Given the description of an element on the screen output the (x, y) to click on. 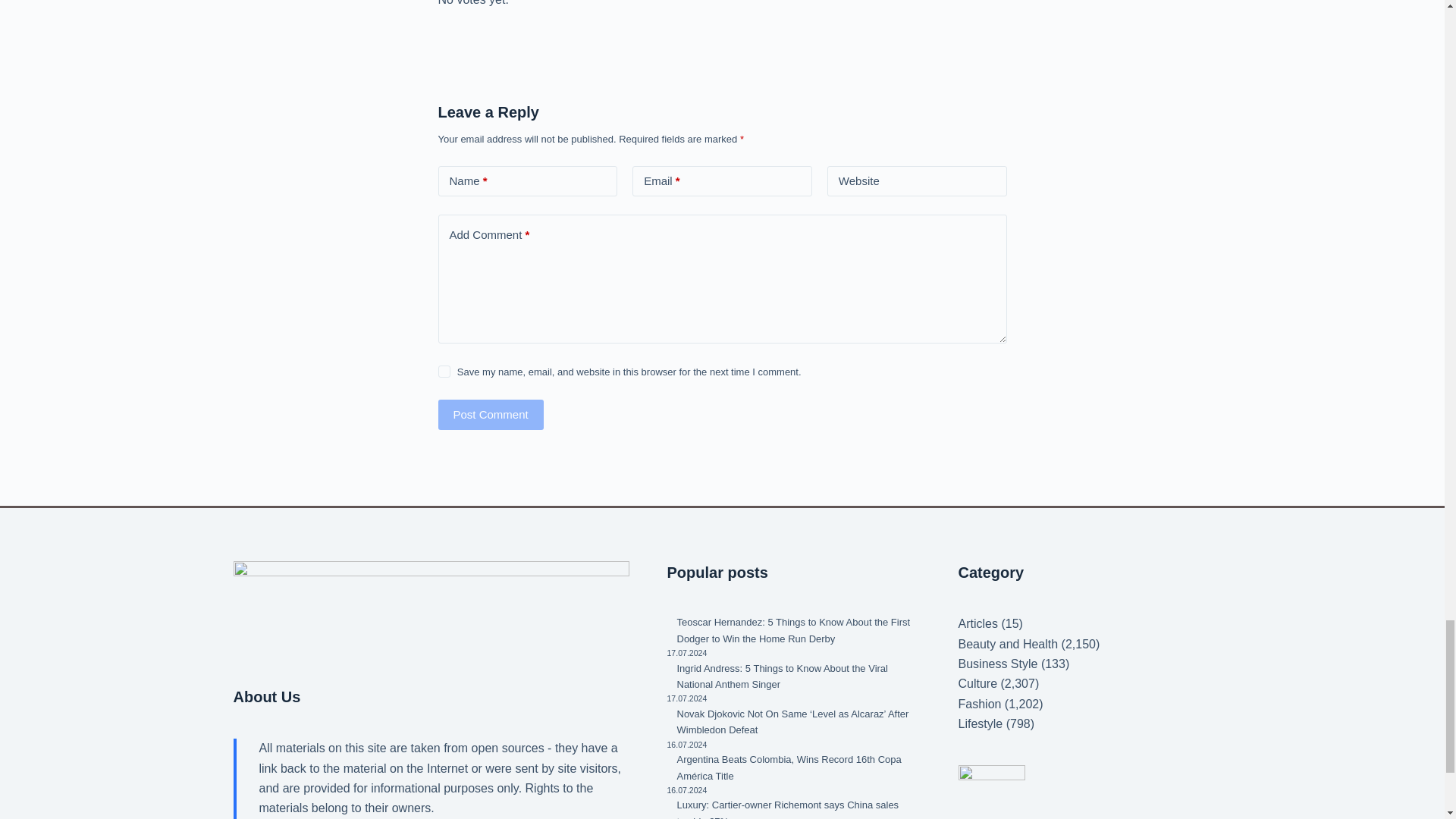
yes (443, 371)
Post Comment (490, 414)
